Given the description of an element on the screen output the (x, y) to click on. 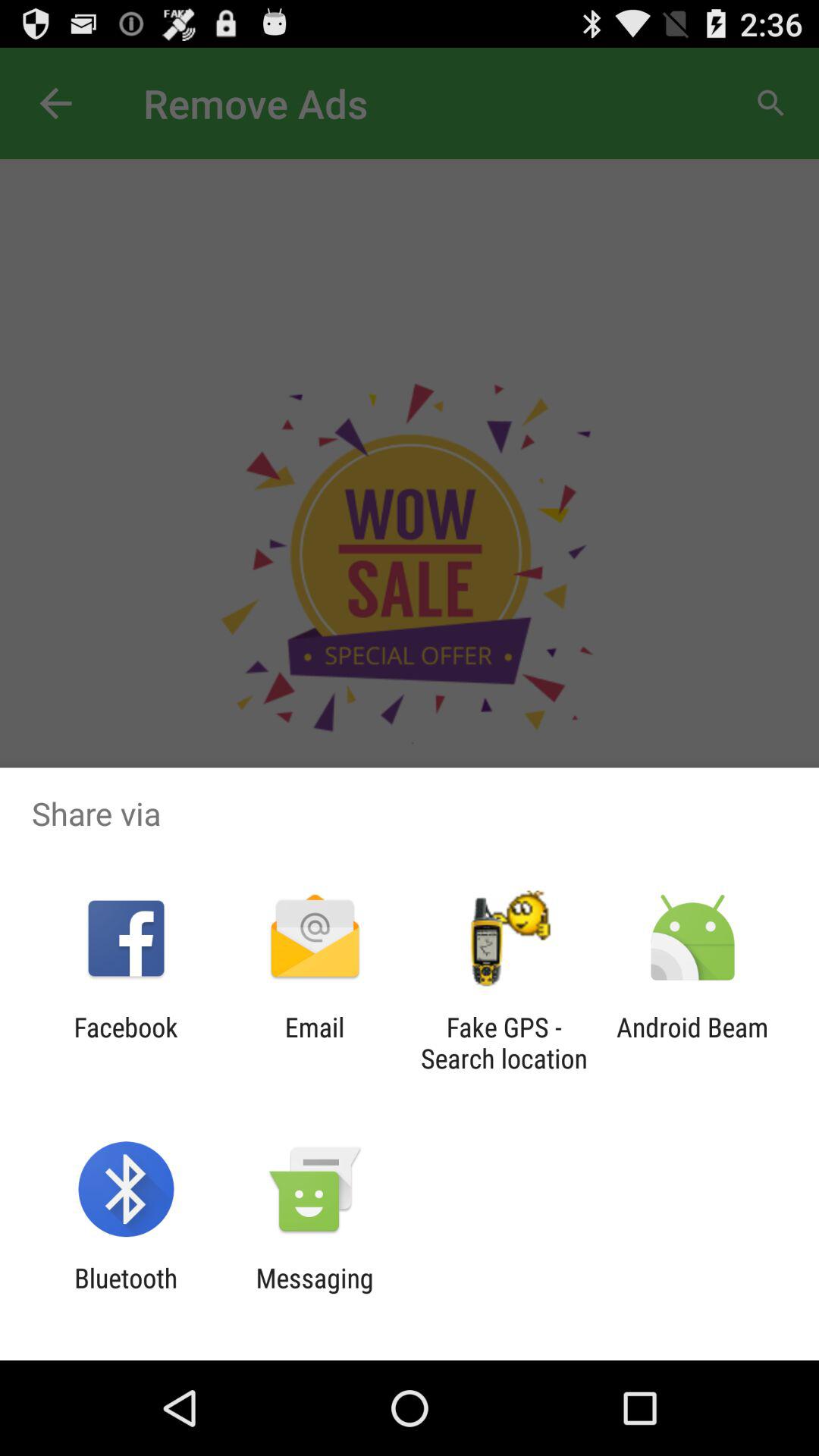
launch email icon (314, 1042)
